Given the description of an element on the screen output the (x, y) to click on. 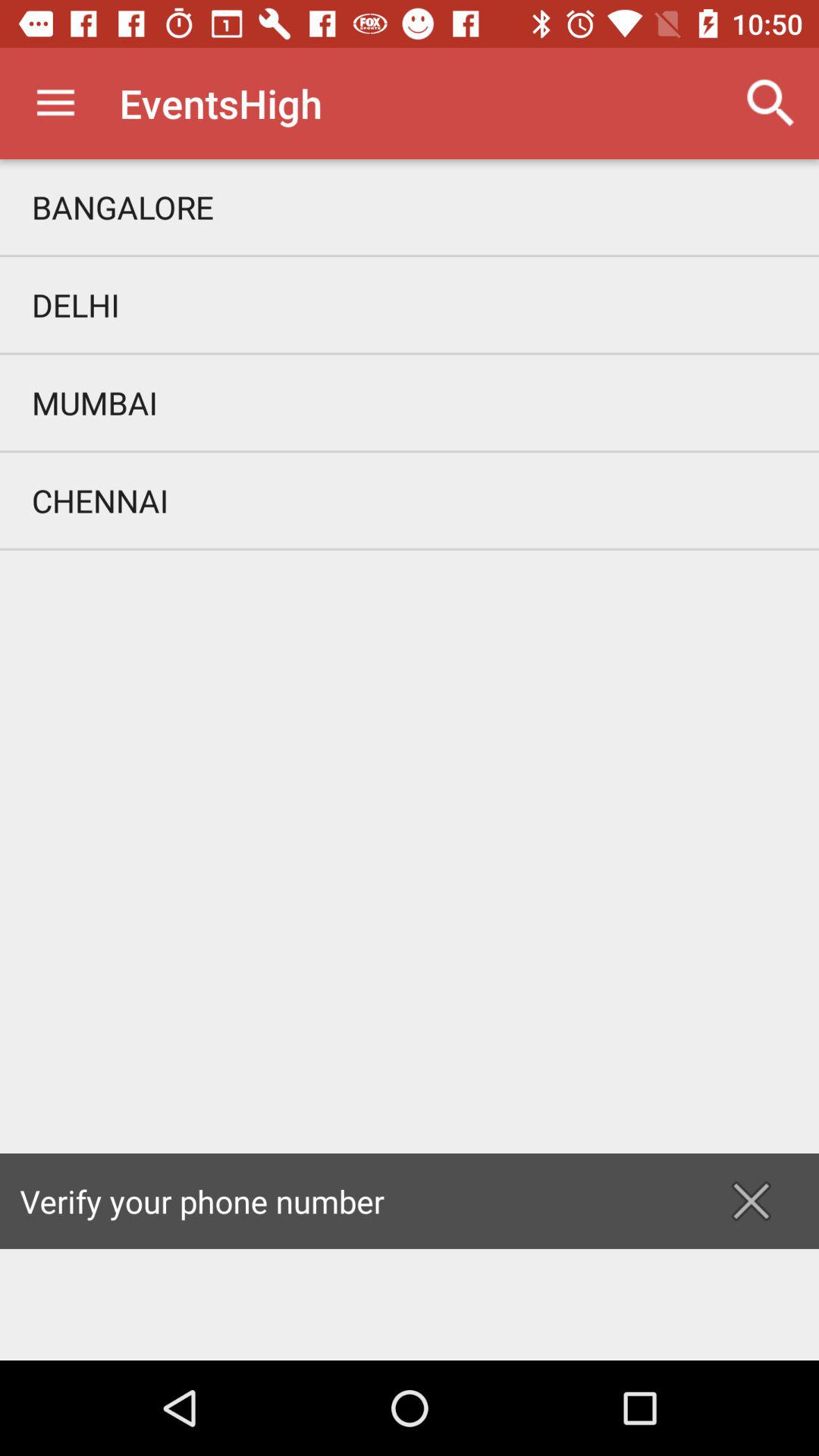
choose the chennai at the center (409, 500)
